Given the description of an element on the screen output the (x, y) to click on. 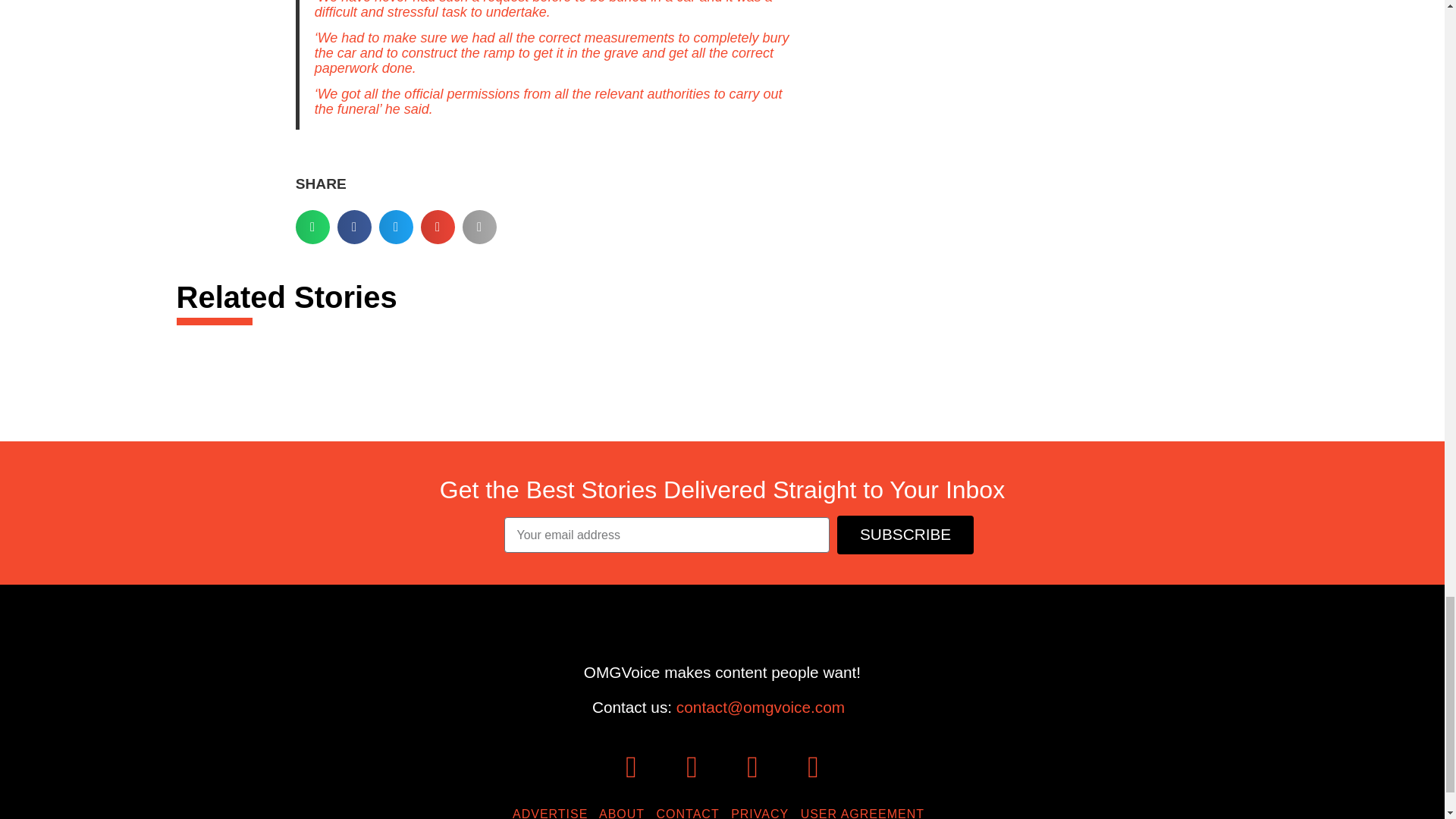
SUBSCRIBE (905, 534)
ABOUT (625, 813)
ADVERTISE (553, 813)
USER AGREEMENT (865, 813)
CONTACT (691, 813)
PRIVACY (763, 813)
